Given the description of an element on the screen output the (x, y) to click on. 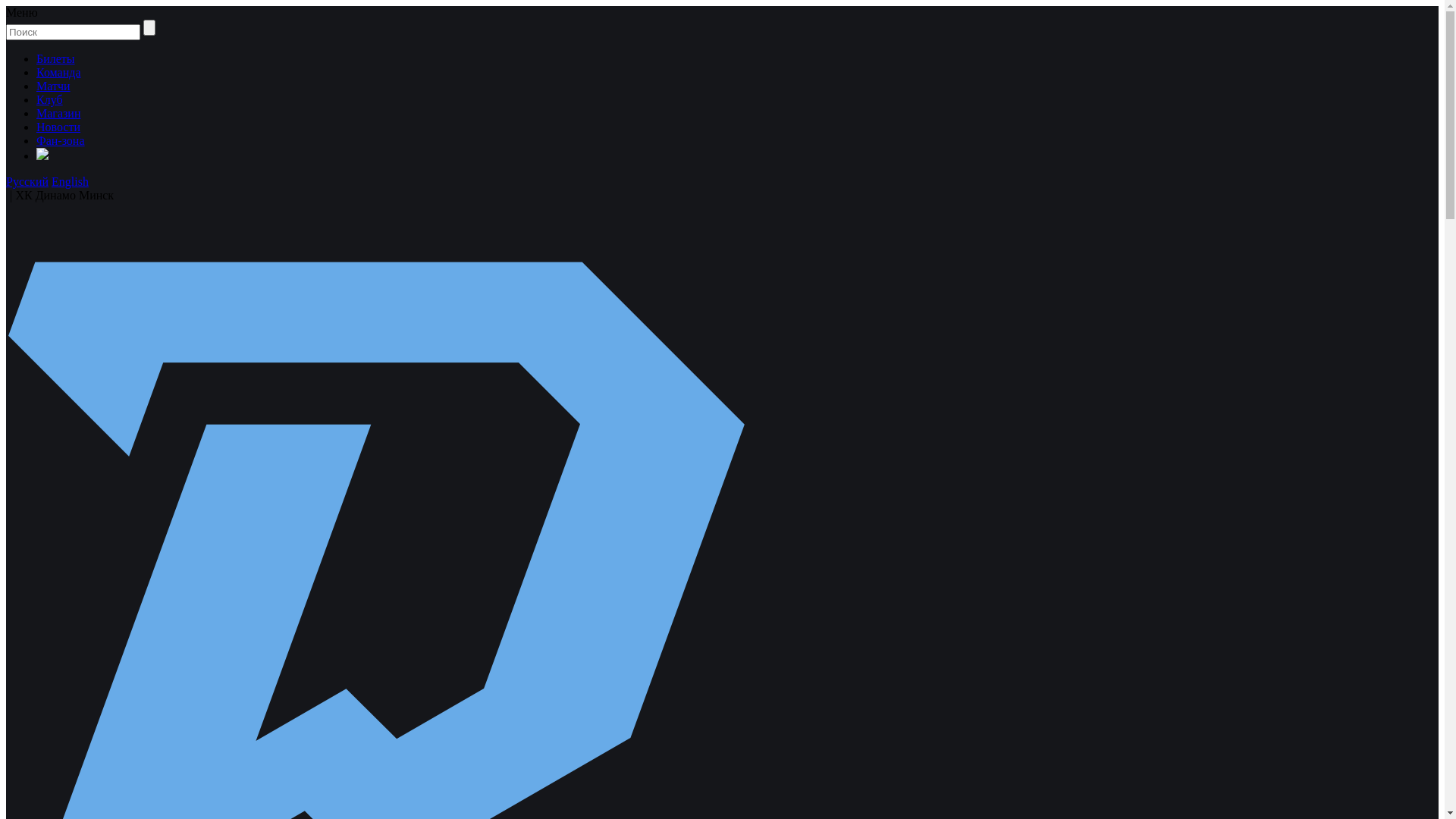
English Element type: text (69, 181)
